Given the description of an element on the screen output the (x, y) to click on. 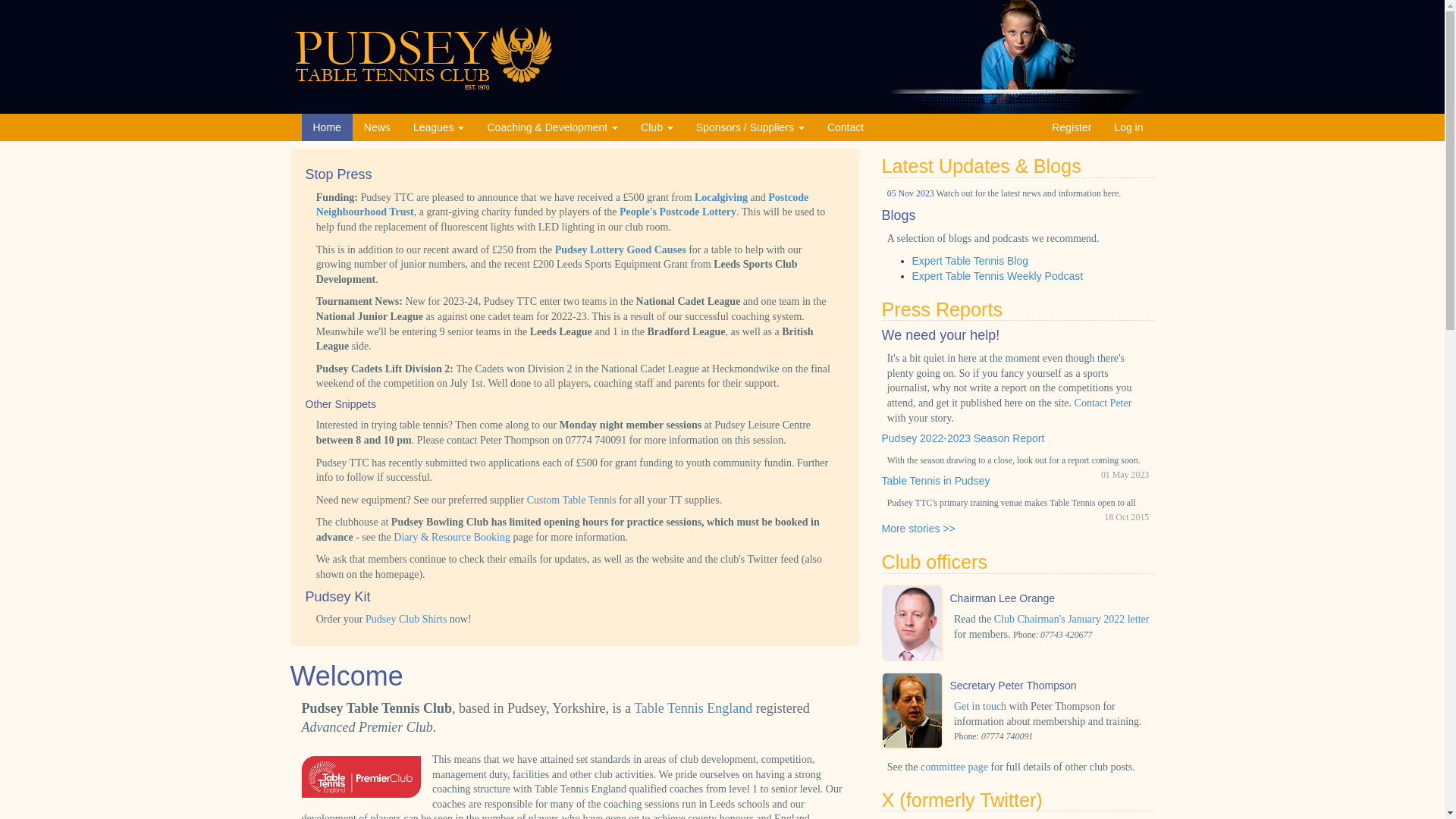
Leagues (438, 126)
Club (656, 126)
Home (326, 126)
Log in (1128, 126)
Localgiving (721, 197)
Register (1071, 126)
News (376, 126)
Contact (845, 126)
Postcode Neighbourhood Trust (561, 204)
